Given the description of an element on the screen output the (x, y) to click on. 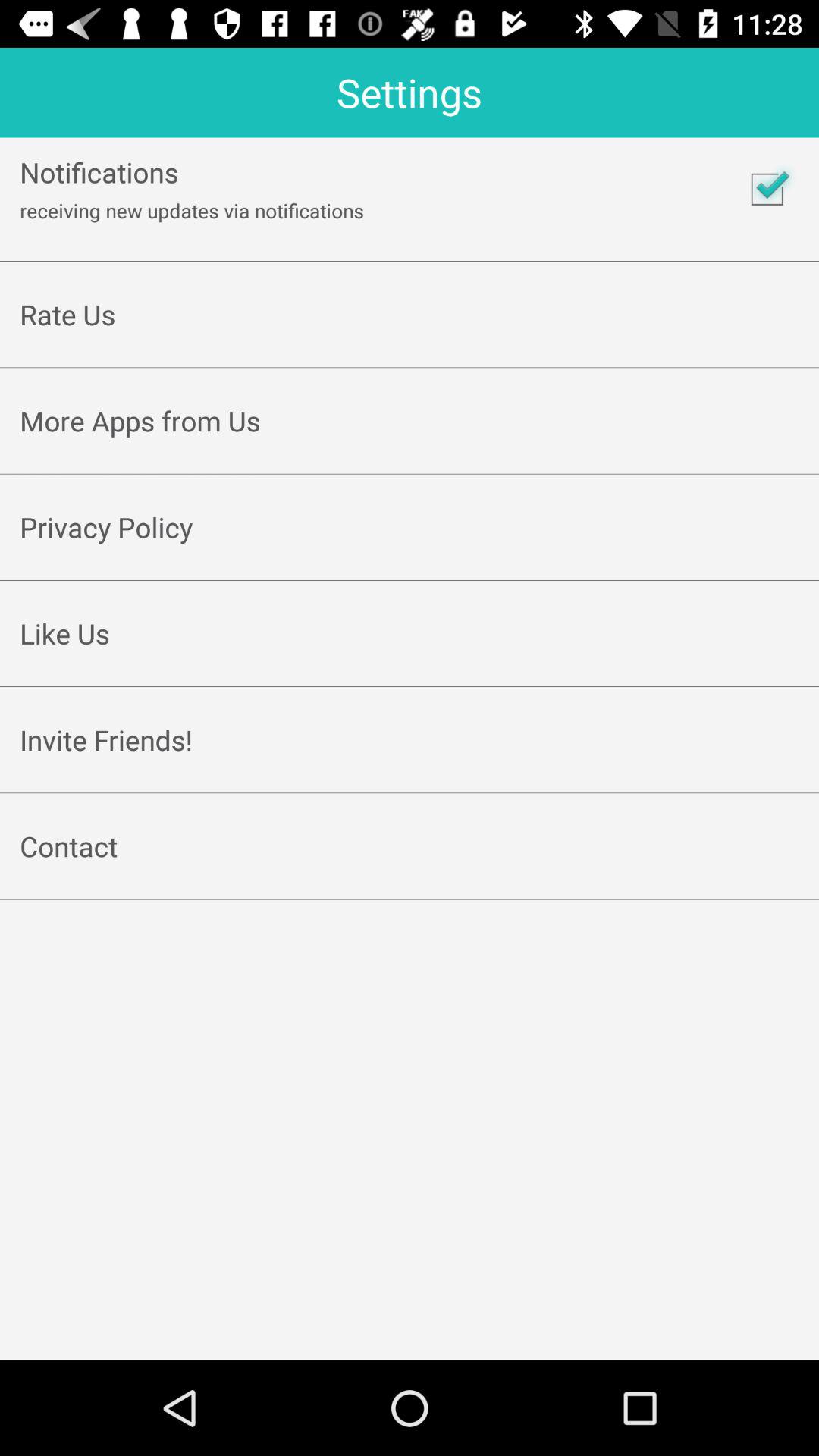
click the icon to the right of receiving new updates (767, 189)
